Given the description of an element on the screen output the (x, y) to click on. 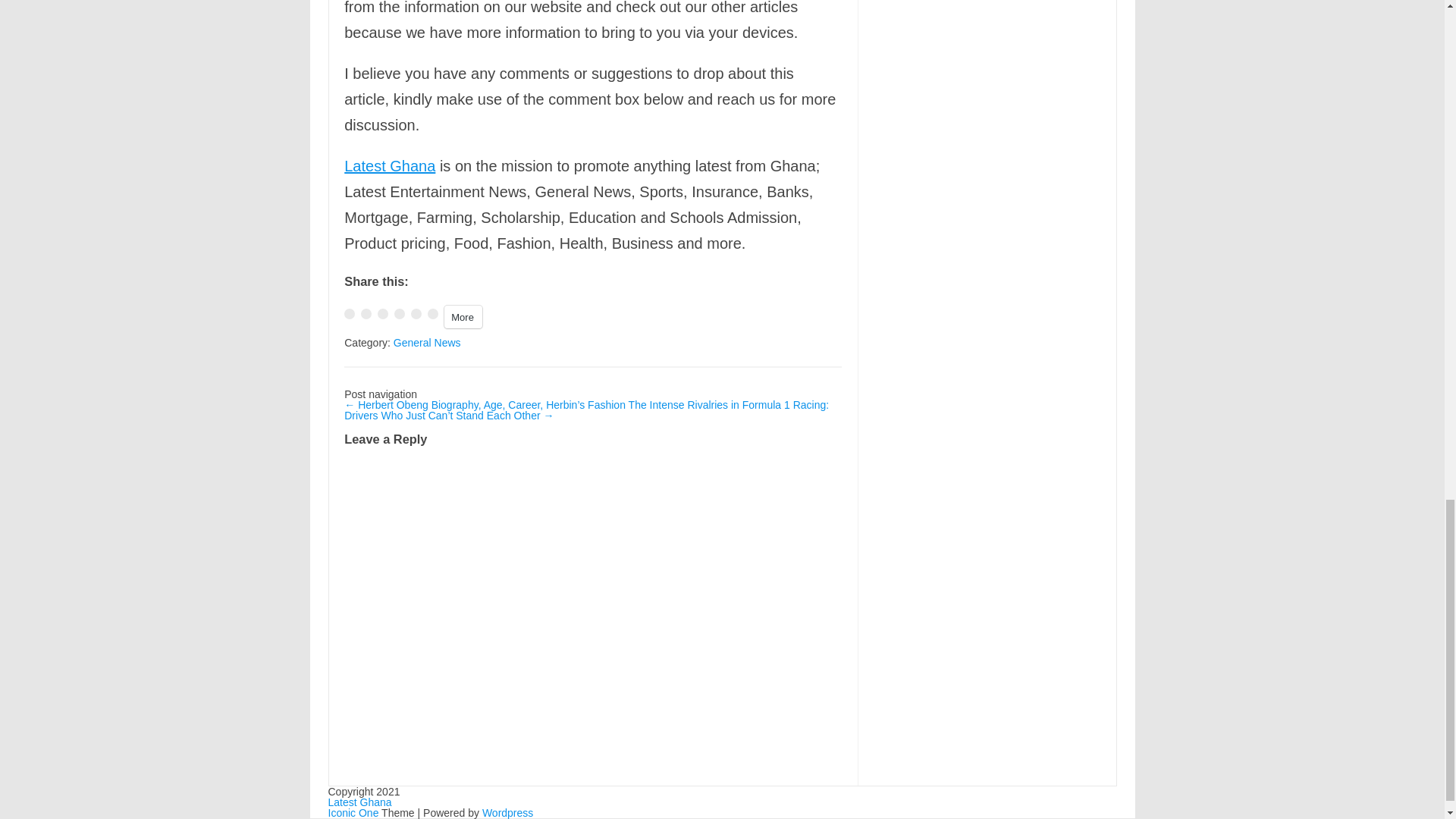
Click to share on Facebook (349, 313)
General News (427, 342)
Click to share on WhatsApp (382, 313)
Latest Ghana (389, 166)
Latest Ghana (359, 802)
Click to share on Telegram (399, 313)
Click to share on Pinterest (416, 313)
Click to share on Reddit (433, 313)
Click to share on Twitter (366, 313)
More (462, 316)
